Given the description of an element on the screen output the (x, y) to click on. 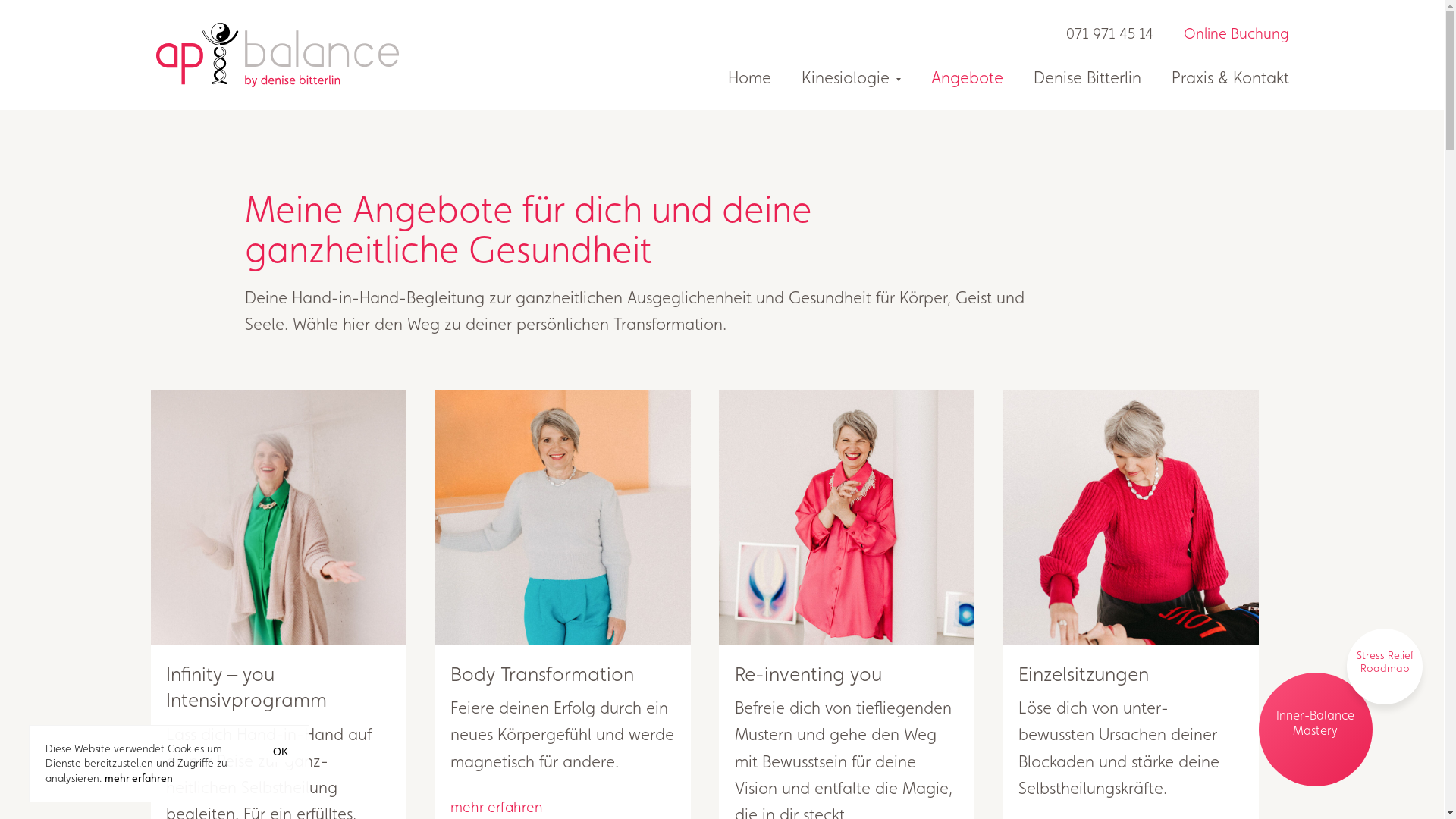
Angebote Element type: text (951, 77)
Denise Bitterlin Element type: text (1071, 77)
OK Element type: text (280, 751)
071 971 45 14 Element type: text (1109, 33)
Praxis & Kontakt Element type: text (1214, 77)
Kinesiologie Element type: text (835, 77)
mehr erfahren Element type: text (138, 774)
Online Buchung Element type: text (1220, 33)
Stress Relief Roadmap Element type: text (1384, 666)
Home Element type: text (734, 77)
Inner-Balance
Mastery Element type: text (1315, 729)
